Given the description of an element on the screen output the (x, y) to click on. 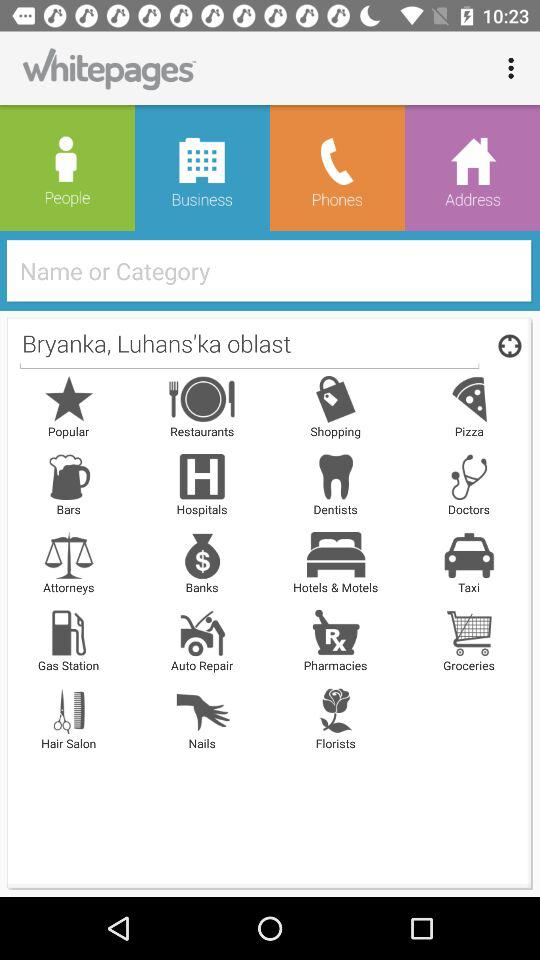
choose item above the pizza icon (505, 345)
